Given the description of an element on the screen output the (x, y) to click on. 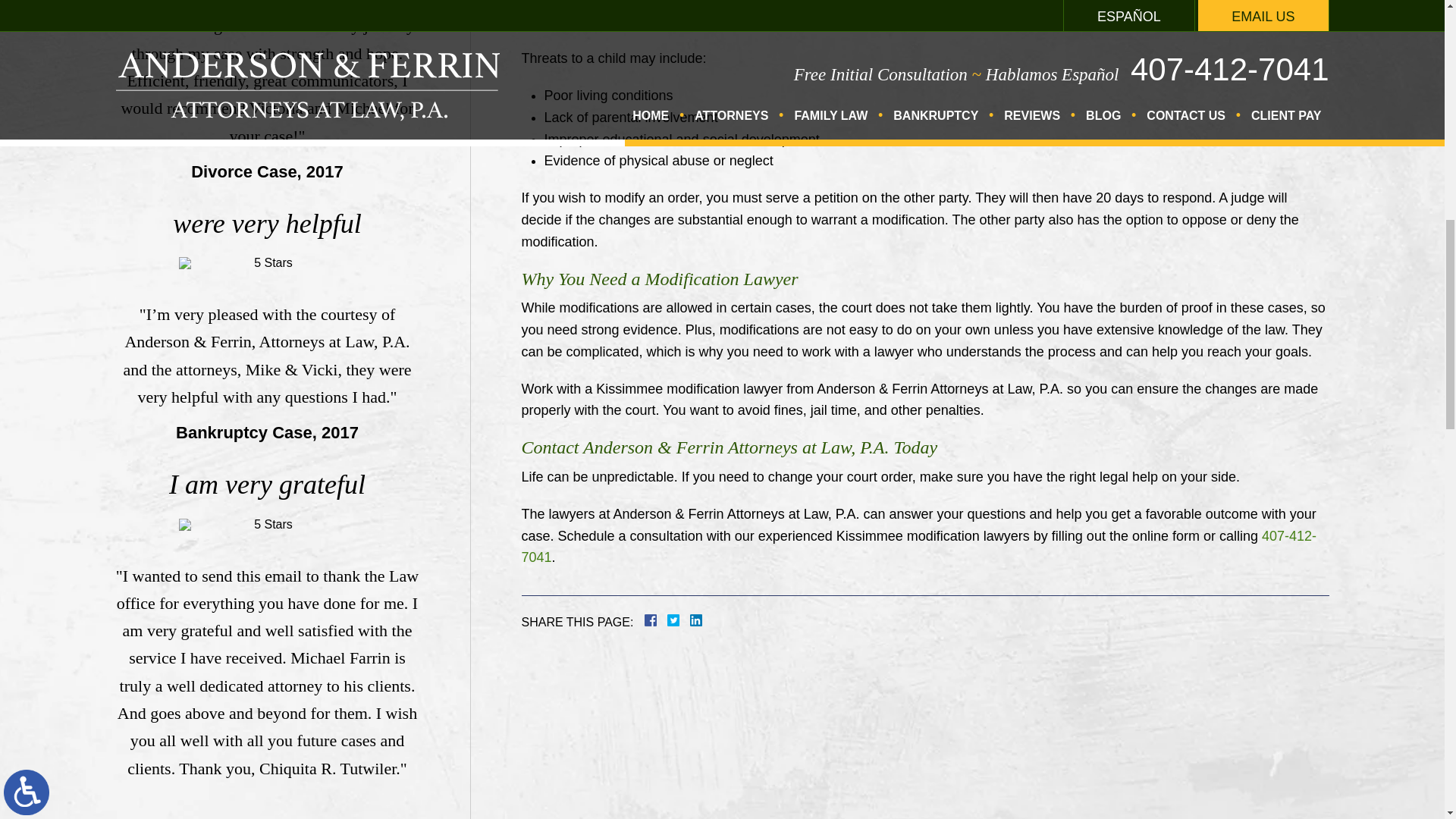
Twitter (679, 620)
LinkedIn (689, 620)
Facebook (669, 620)
